Given the description of an element on the screen output the (x, y) to click on. 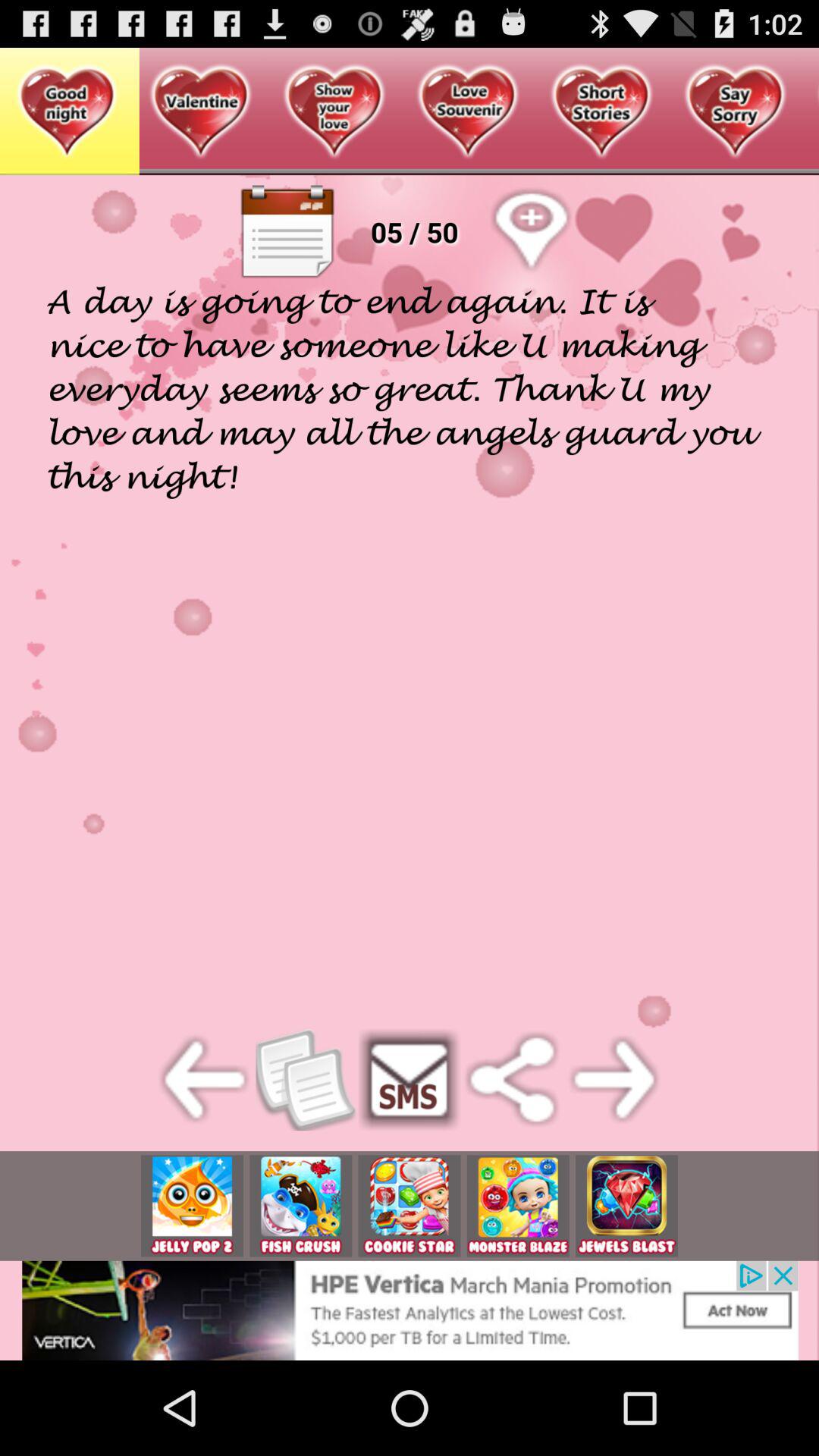
before (204, 1079)
